Given the description of an element on the screen output the (x, y) to click on. 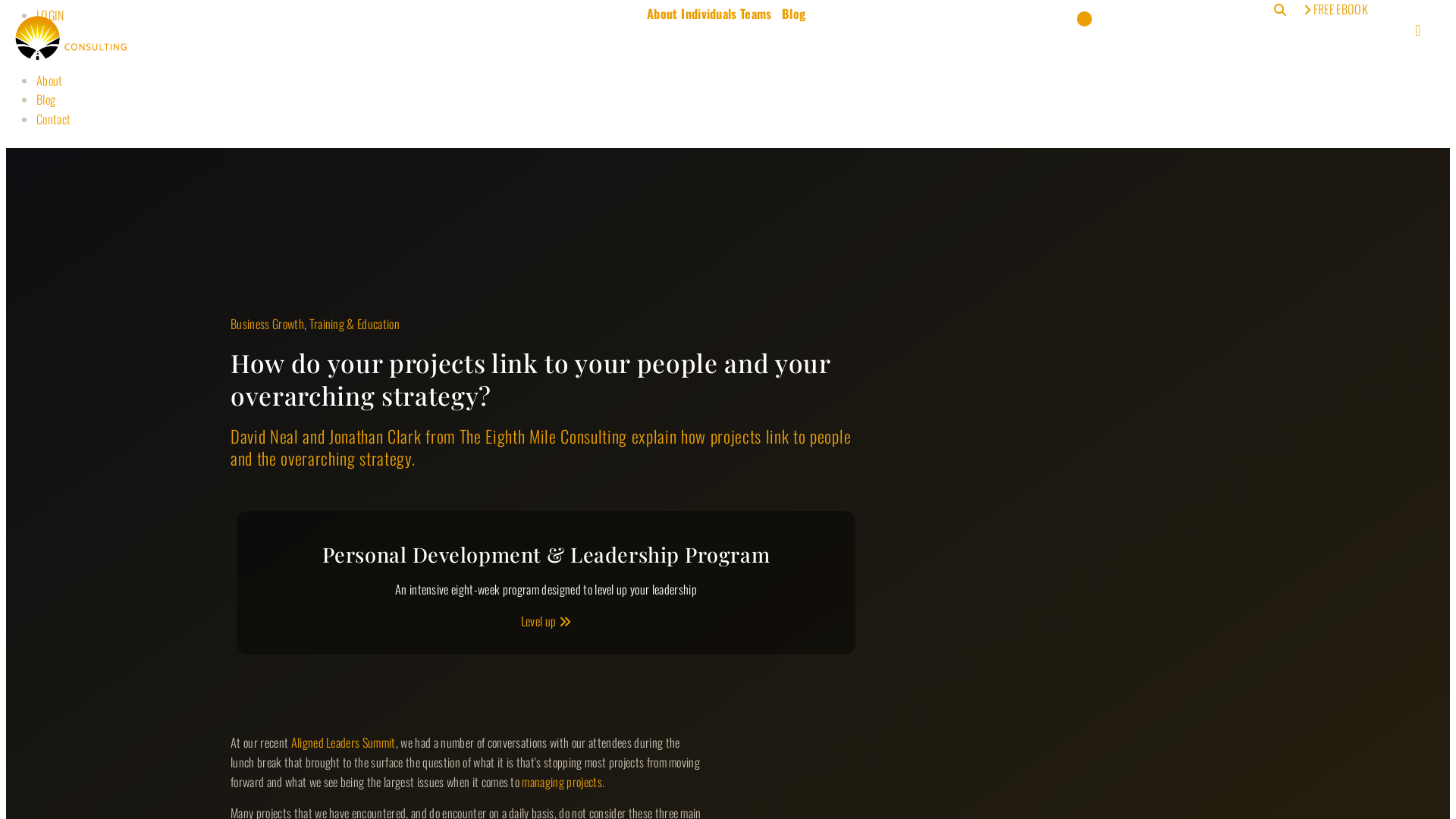
Level up Element type: text (545, 620)
Individuals Element type: text (708, 14)
Business Growth Element type: text (267, 323)
WEBSITES WITH MOBLE Element type: text (94, 141)
About Element type: text (661, 14)
Blog Element type: text (793, 14)
About Element type: text (49, 80)
Build Strength Element type: text (274, 582)
TERMS Element type: text (46, 141)
FREE EBOOK Element type: text (1335, 9)
LOGIN Element type: text (50, 15)
Build Strength Element type: text (792, 715)
Teams Element type: text (755, 14)
managing projects Element type: text (561, 781)
Aligned Leaders Summit Element type: text (343, 742)
Contact Element type: text (53, 118)
CART Element type: text (709, 48)
Training & Education Element type: text (354, 323)
PRIVACY Element type: text (18, 141)
LET'S TALK Element type: text (872, 773)
Blog Element type: text (45, 99)
